Given the description of an element on the screen output the (x, y) to click on. 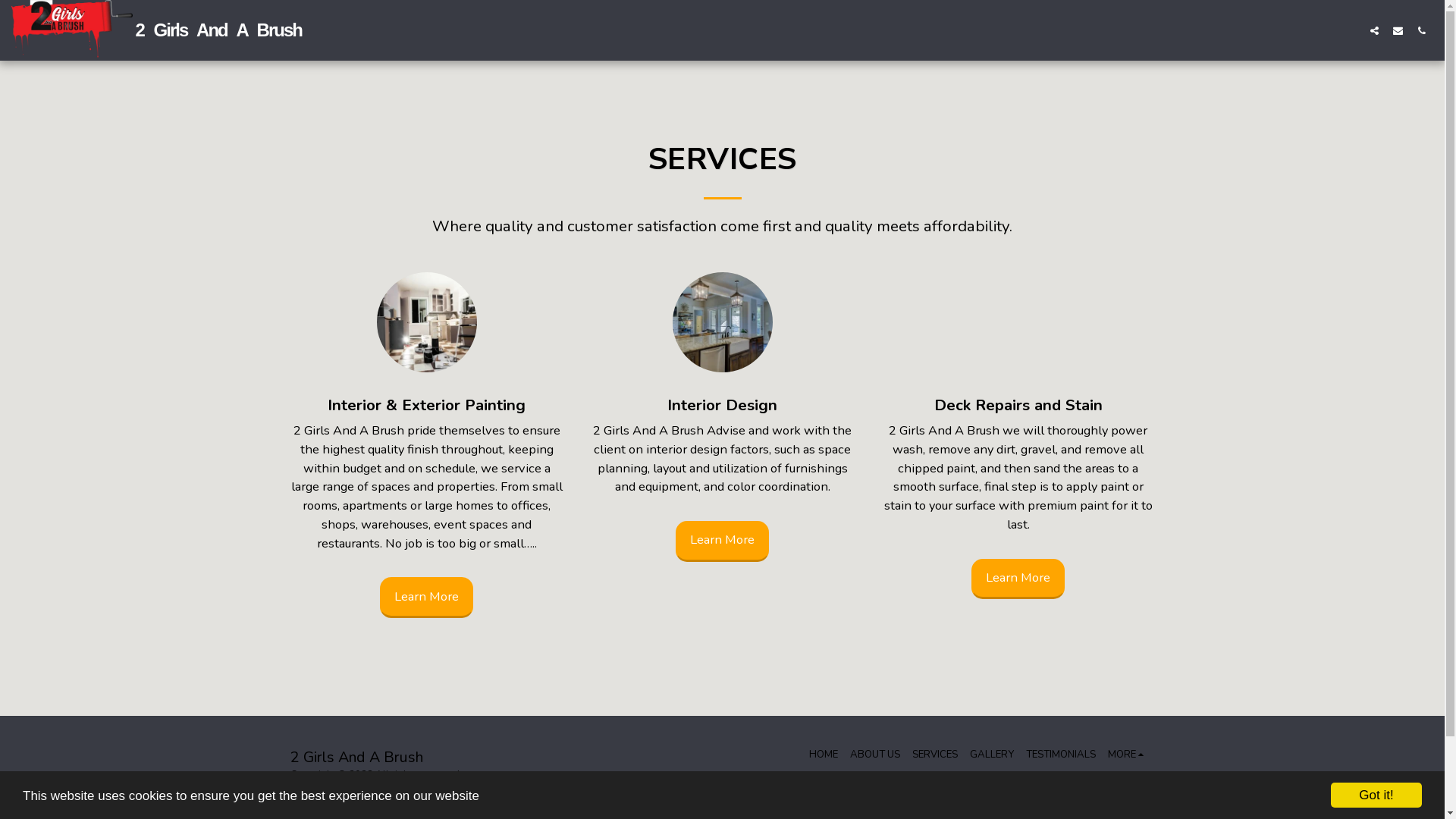
  Element type: text (1374, 29)
MORE   Element type: text (1127, 754)
Learn More Element type: text (426, 597)
2 Girls And A Brush Element type: text (156, 30)
TESTIMONIALS Element type: text (1060, 754)
Learn More Element type: text (721, 540)
ABOUT US Element type: text (875, 754)
GALLERY Element type: text (991, 754)
  Element type: text (1397, 29)
Learn More Element type: text (1017, 578)
SERVICES Element type: text (934, 754)
  Element type: text (1421, 29)
Got it! Element type: text (1375, 794)
HOME Element type: text (823, 754)
